Given the description of an element on the screen output the (x, y) to click on. 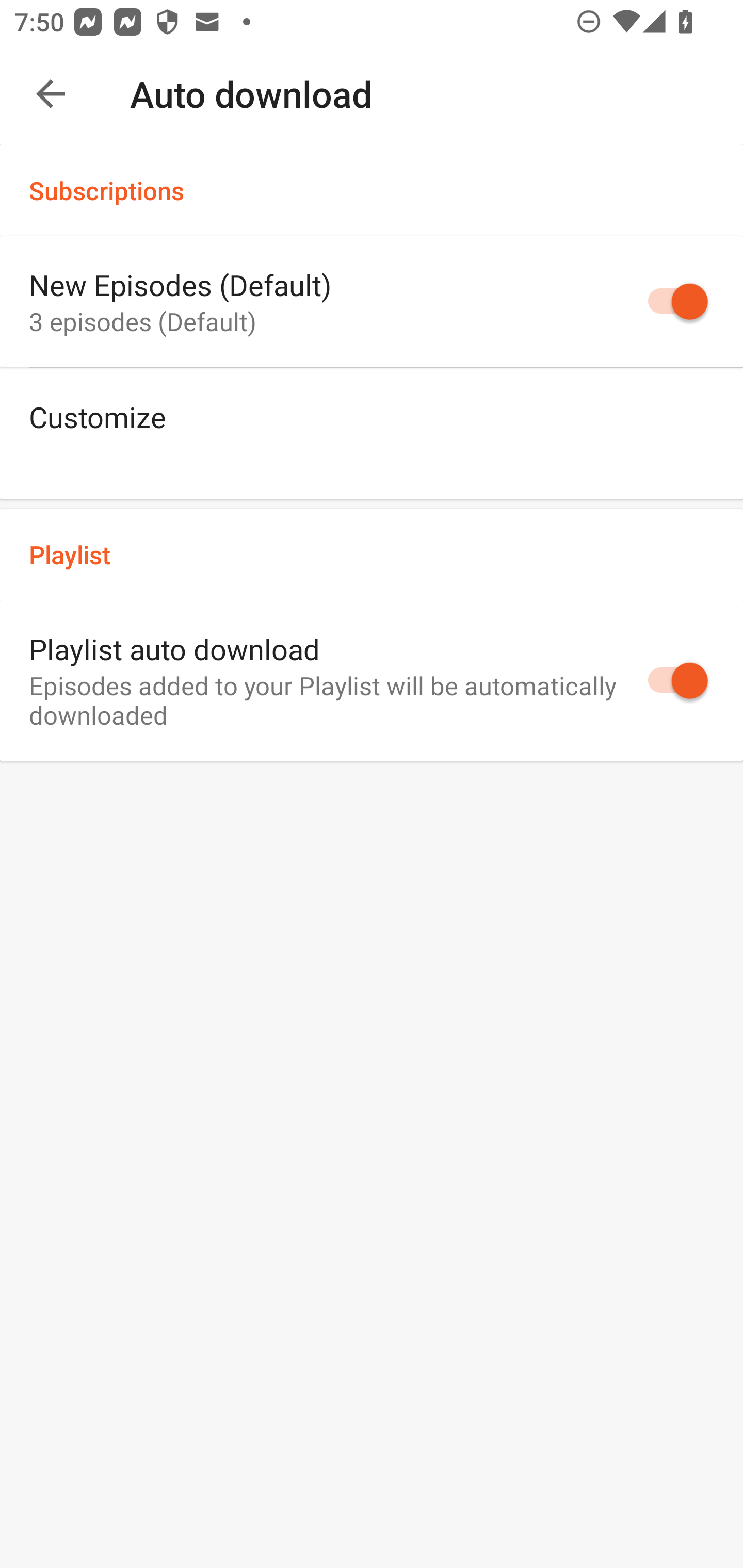
Navigate up (50, 93)
New Episodes (Default) 3 episodes (Default) (371, 301)
Customize (371, 433)
